Given the description of an element on the screen output the (x, y) to click on. 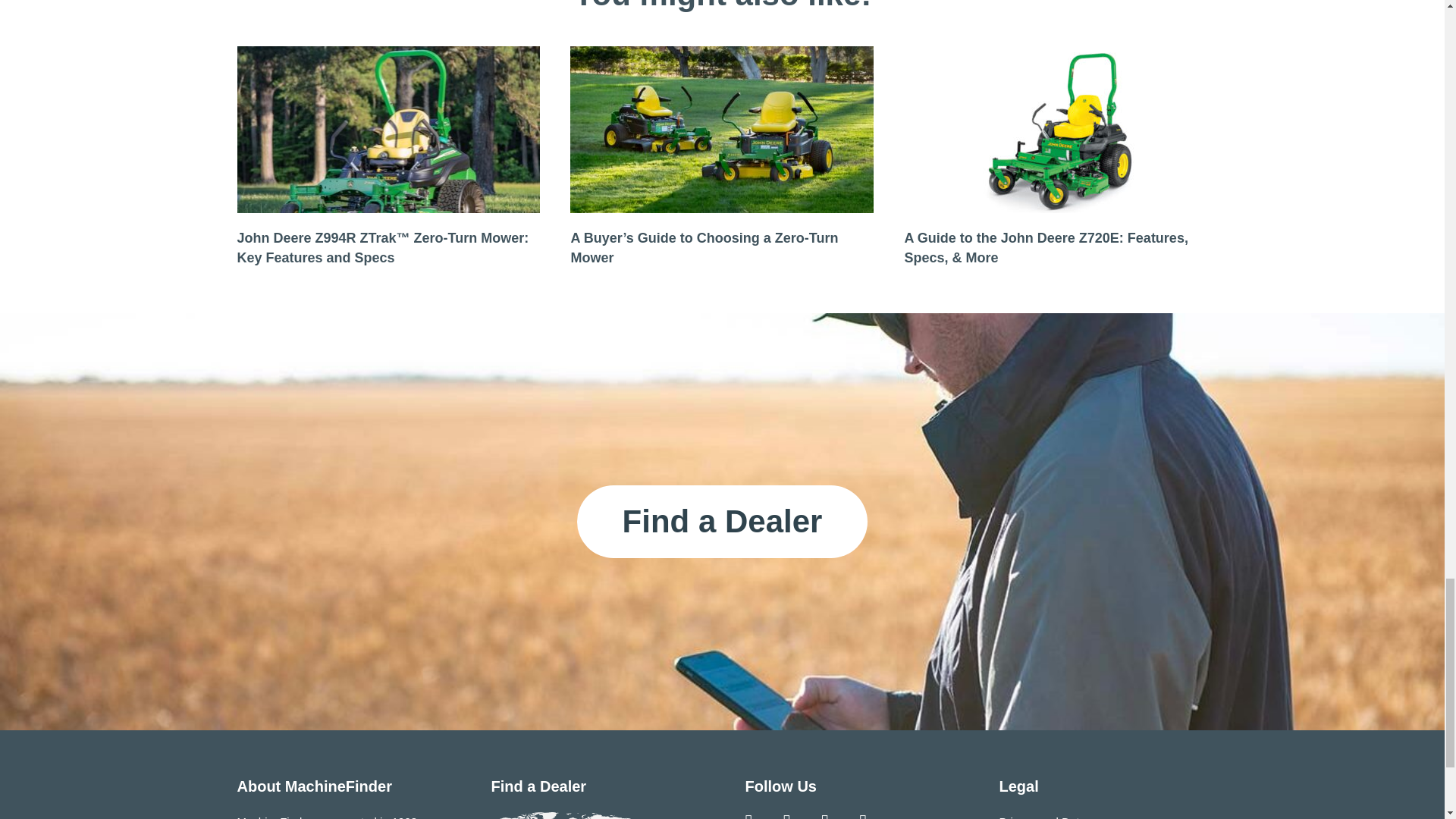
Find a Dealer (721, 521)
Twitter (824, 815)
Facebook (748, 815)
Instagram (786, 815)
